Given the description of an element on the screen output the (x, y) to click on. 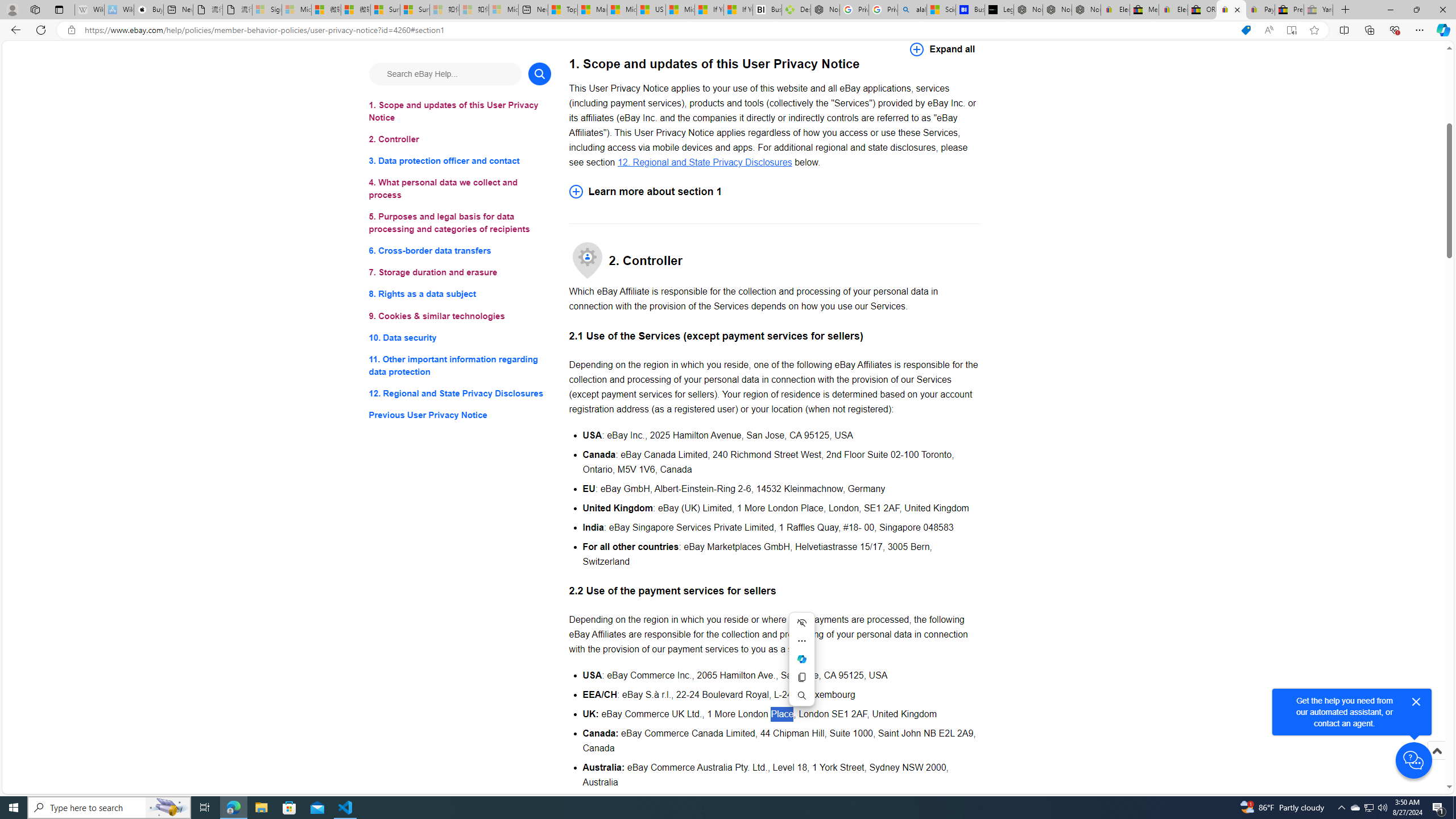
Nordace - My Account (825, 9)
Mini menu on text selection (801, 658)
1. Scope and updates of this User Privacy Notice (459, 111)
Previous User Privacy Notice (459, 414)
12. Regional and State Privacy Disclosures (459, 392)
Previous User Privacy Notice (459, 414)
